Given the description of an element on the screen output the (x, y) to click on. 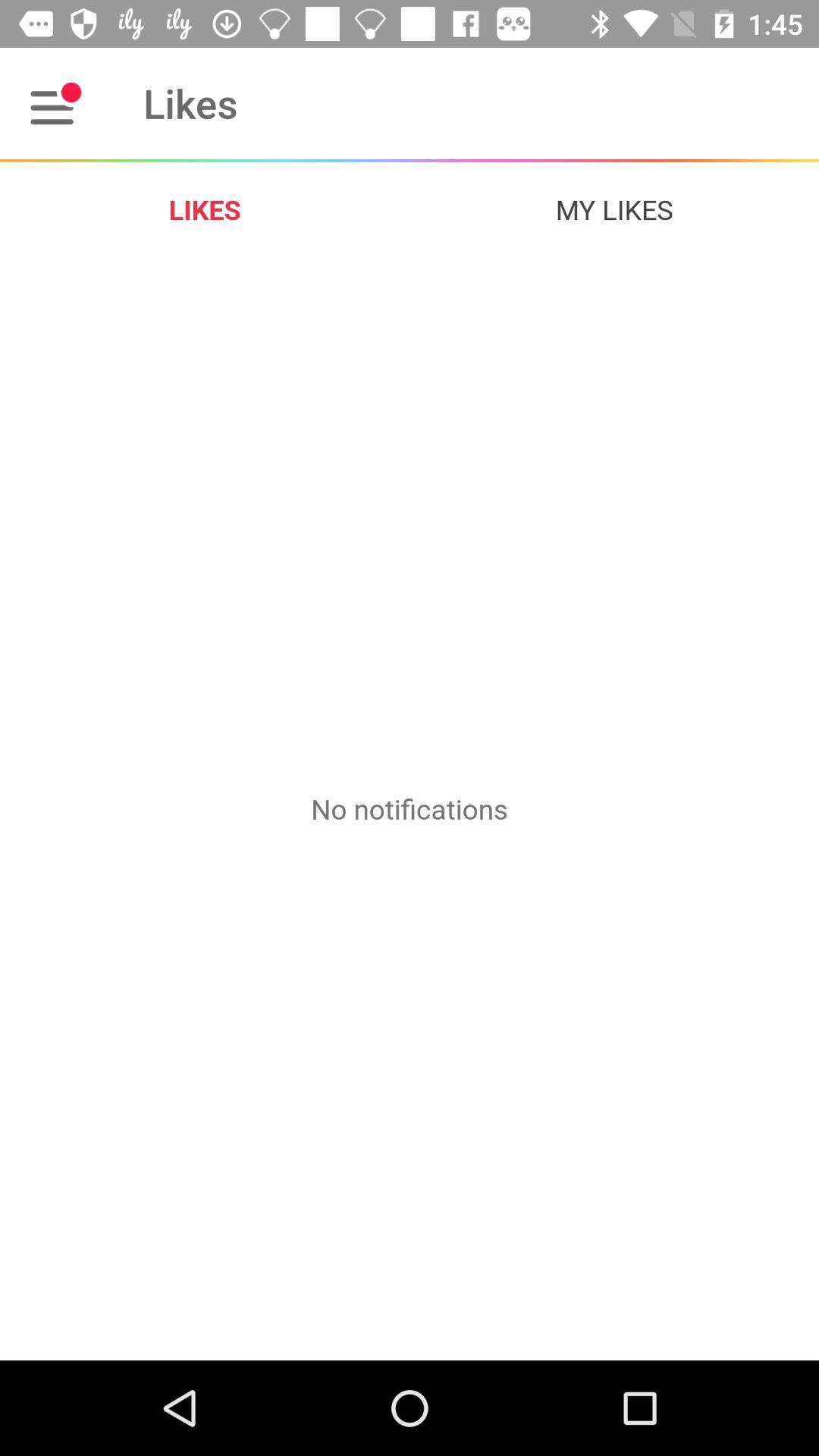
tap item next to likes item (55, 103)
